Given the description of an element on the screen output the (x, y) to click on. 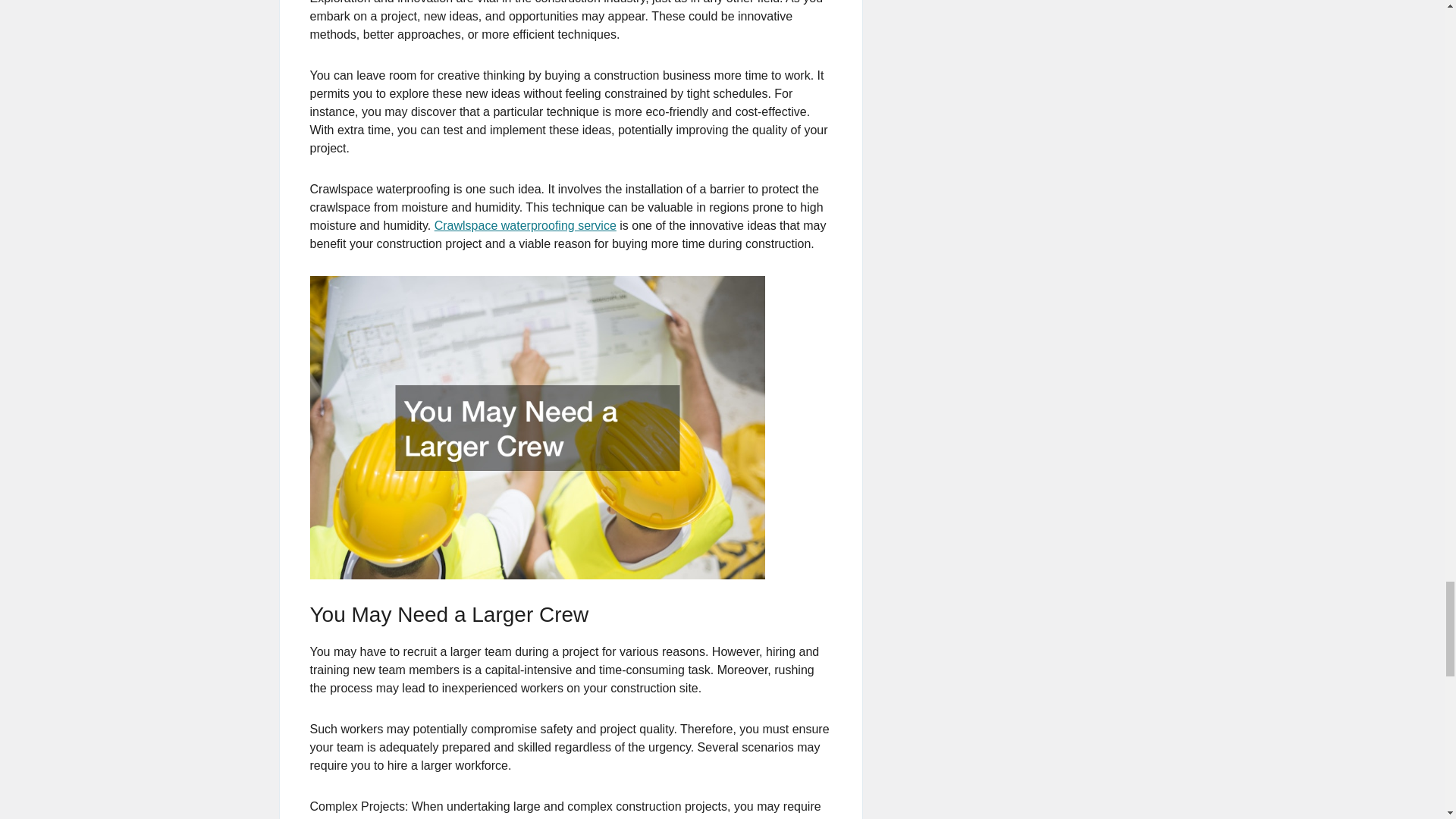
Crawlspace waterproofing service (524, 225)
